Given the description of an element on the screen output the (x, y) to click on. 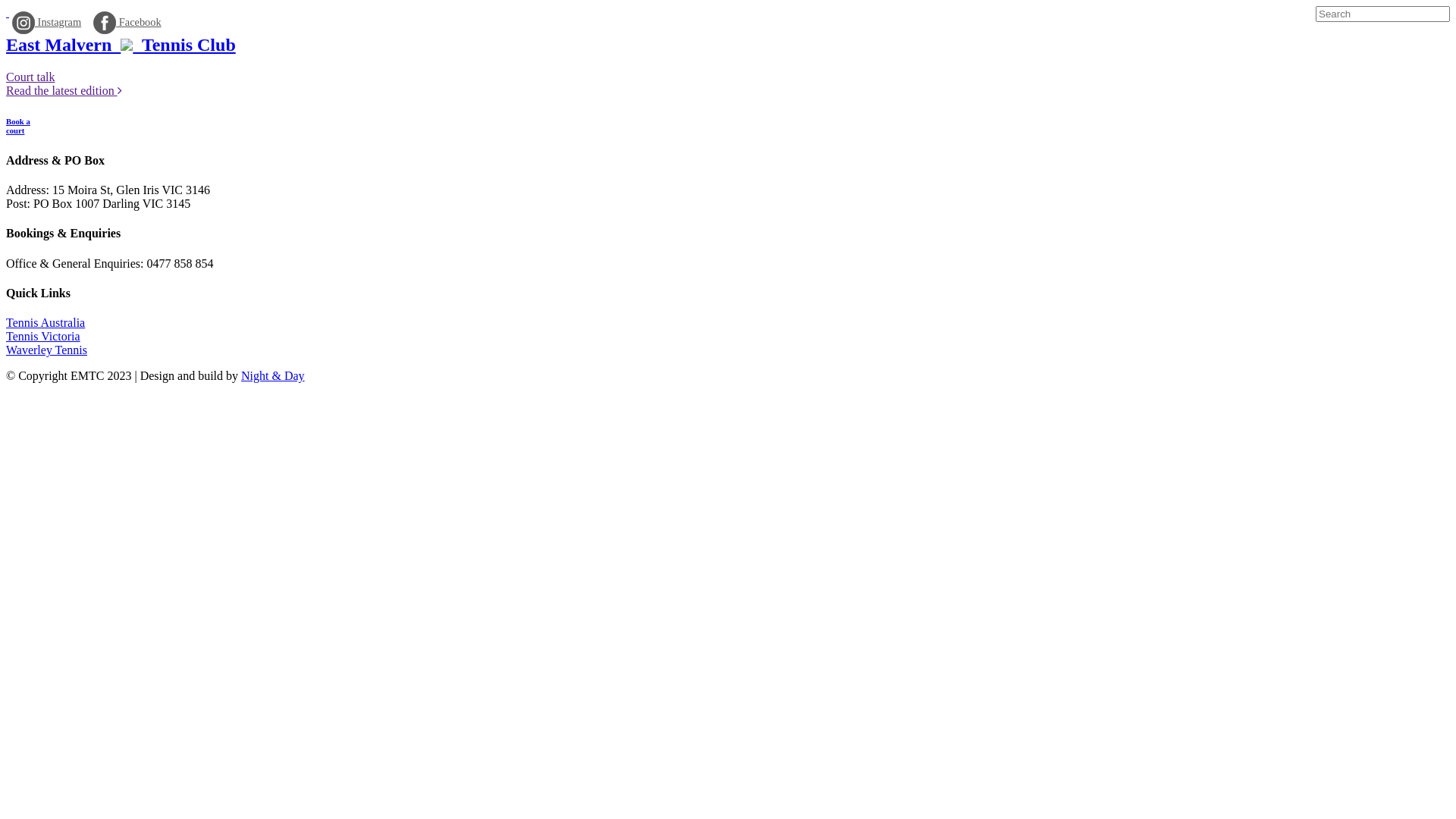
Waverley Tennis Element type: text (46, 349)
Facebook Element type: text (127, 23)
  Element type: text (7, 12)
Court talk
Read the latest edition Element type: text (64, 83)
Book a
court Element type: text (727, 125)
East Malvern    Tennis Club Element type: text (120, 44)
Tennis Victoria Element type: text (43, 335)
Instagram Element type: text (46, 23)
Night & Day Element type: text (272, 375)
Tennis Australia Element type: text (45, 322)
